Given the description of an element on the screen output the (x, y) to click on. 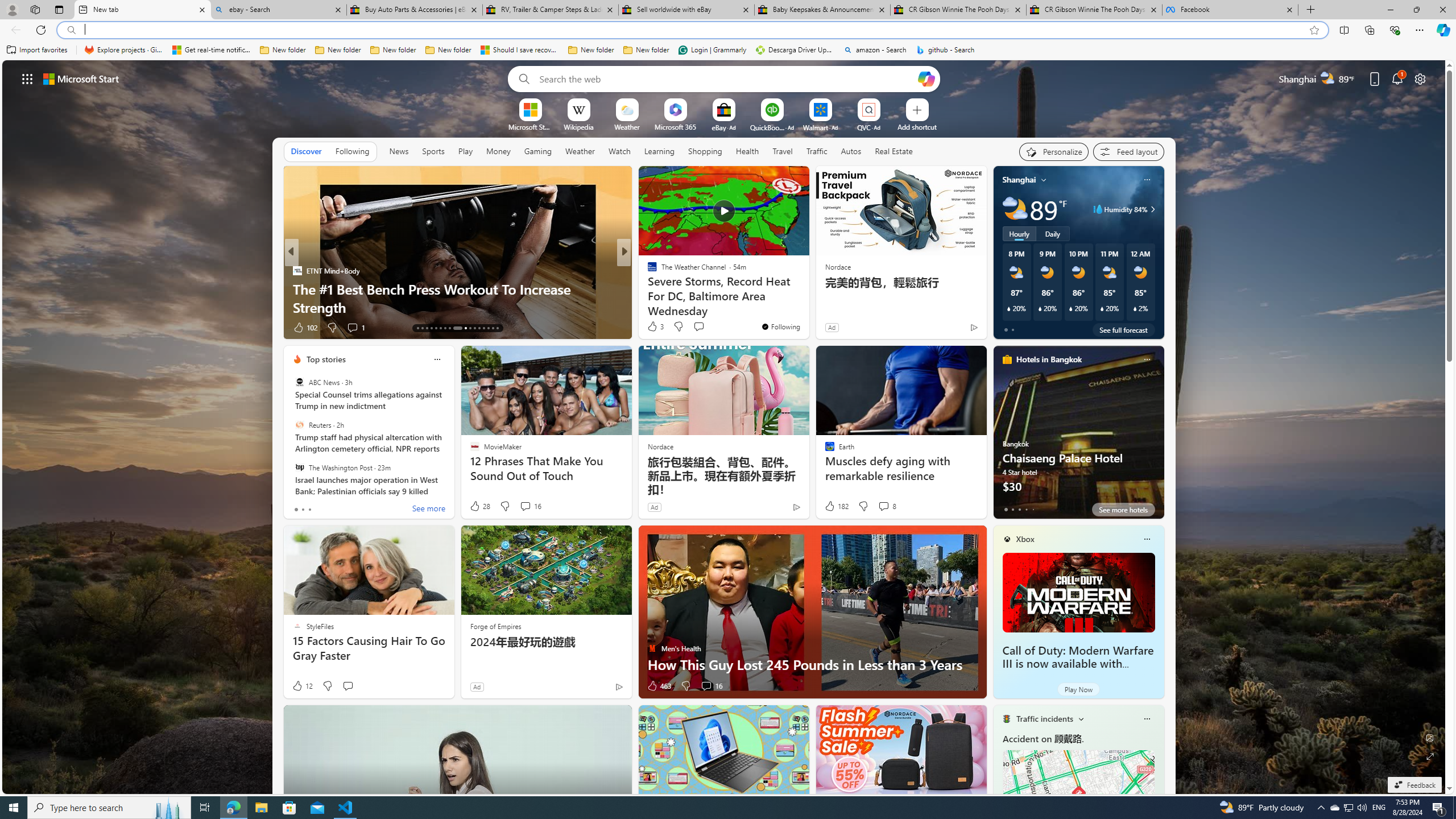
AutomationID: tab-14 (422, 328)
Top stories (325, 359)
AutomationID: tab-15 (426, 328)
Change scenarios (1080, 718)
AutomationID: tab-19 (444, 328)
App launcher (27, 78)
Chaisaeng Palace Hotel (1078, 436)
Partly cloudy (1014, 208)
Class: weather-current-precipitation-glyph (1134, 308)
